Given the description of an element on the screen output the (x, y) to click on. 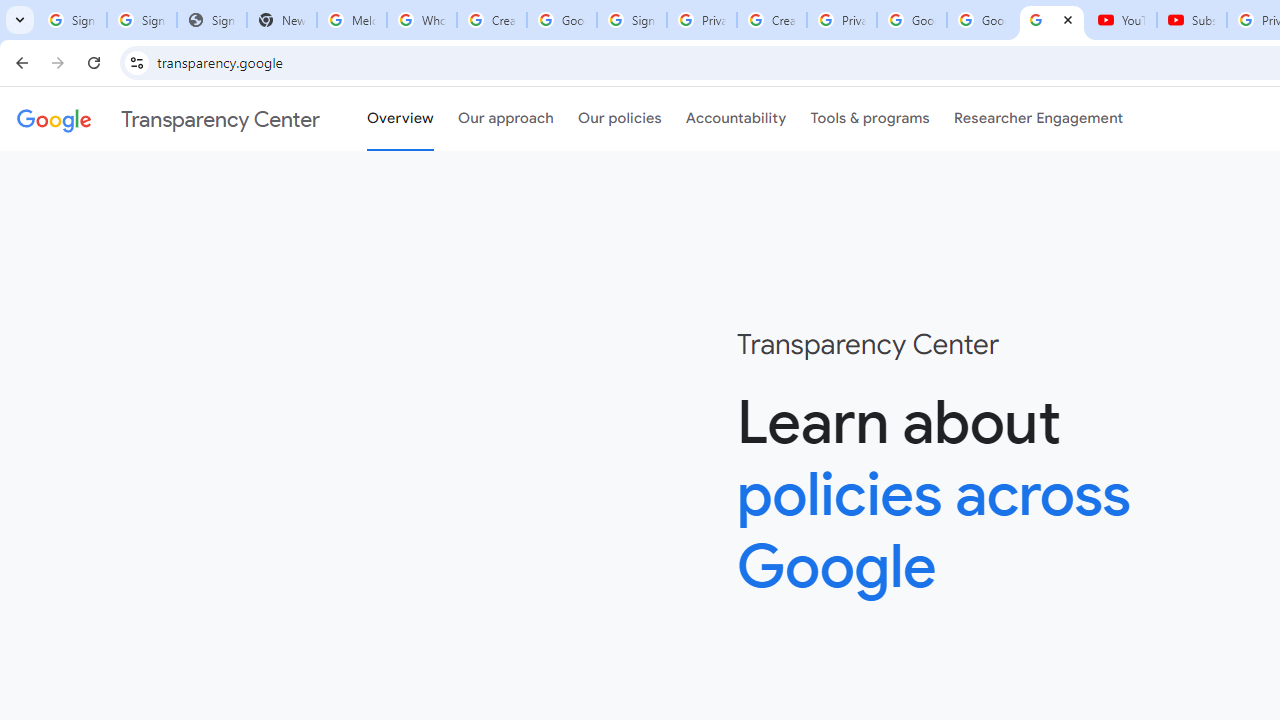
Our policies (619, 119)
Accountability (735, 119)
Sign in - Google Accounts (631, 20)
YouTube (1121, 20)
